Given the description of an element on the screen output the (x, y) to click on. 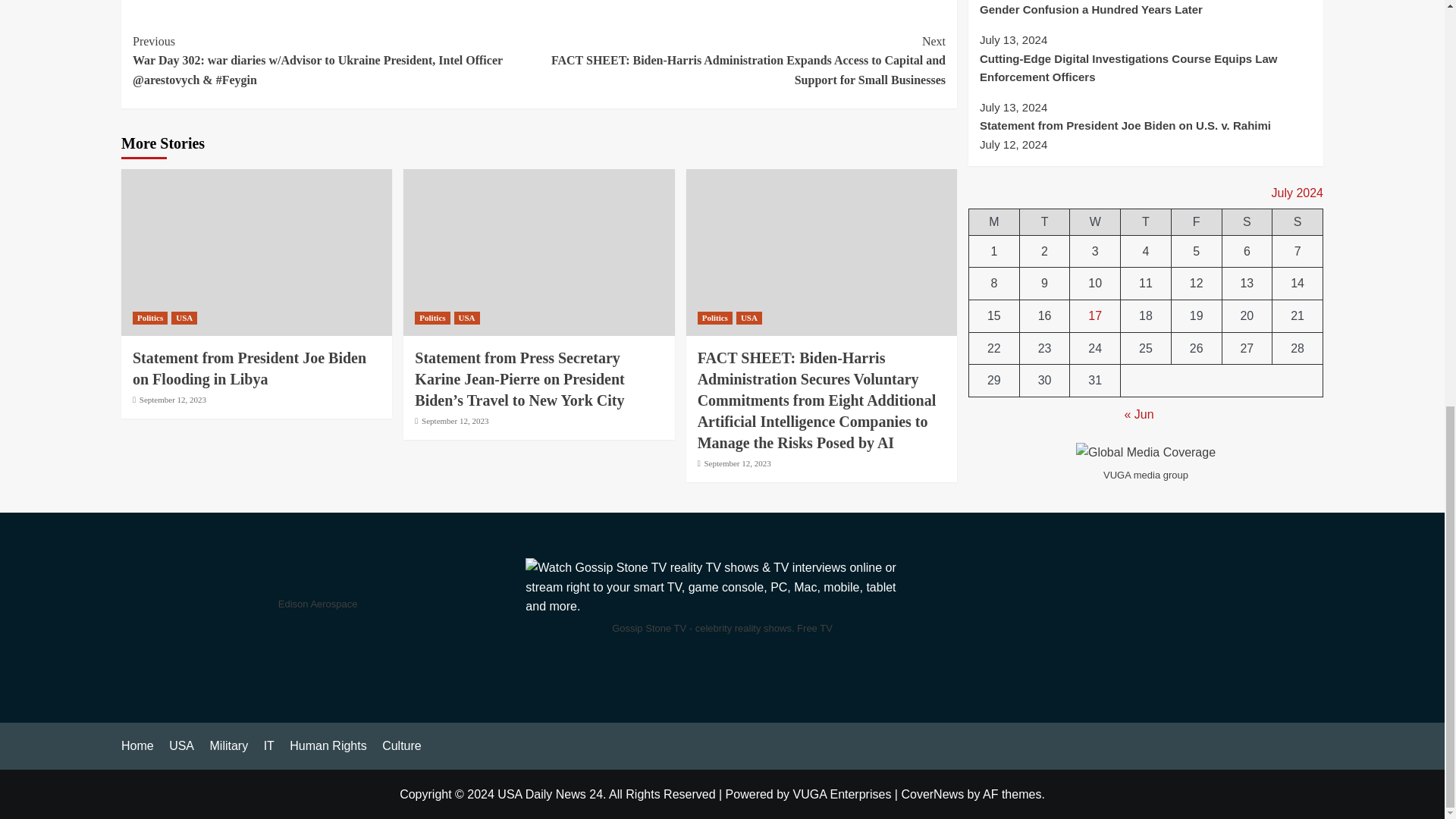
USA (183, 318)
USA (467, 318)
Monday (994, 220)
Sunday (1297, 220)
Saturday (1246, 220)
Politics (714, 318)
Politics (431, 318)
Wednesday (1095, 220)
USA (748, 318)
September 12, 2023 (172, 399)
Thursday (1146, 220)
Politics (149, 318)
